Given the description of an element on the screen output the (x, y) to click on. 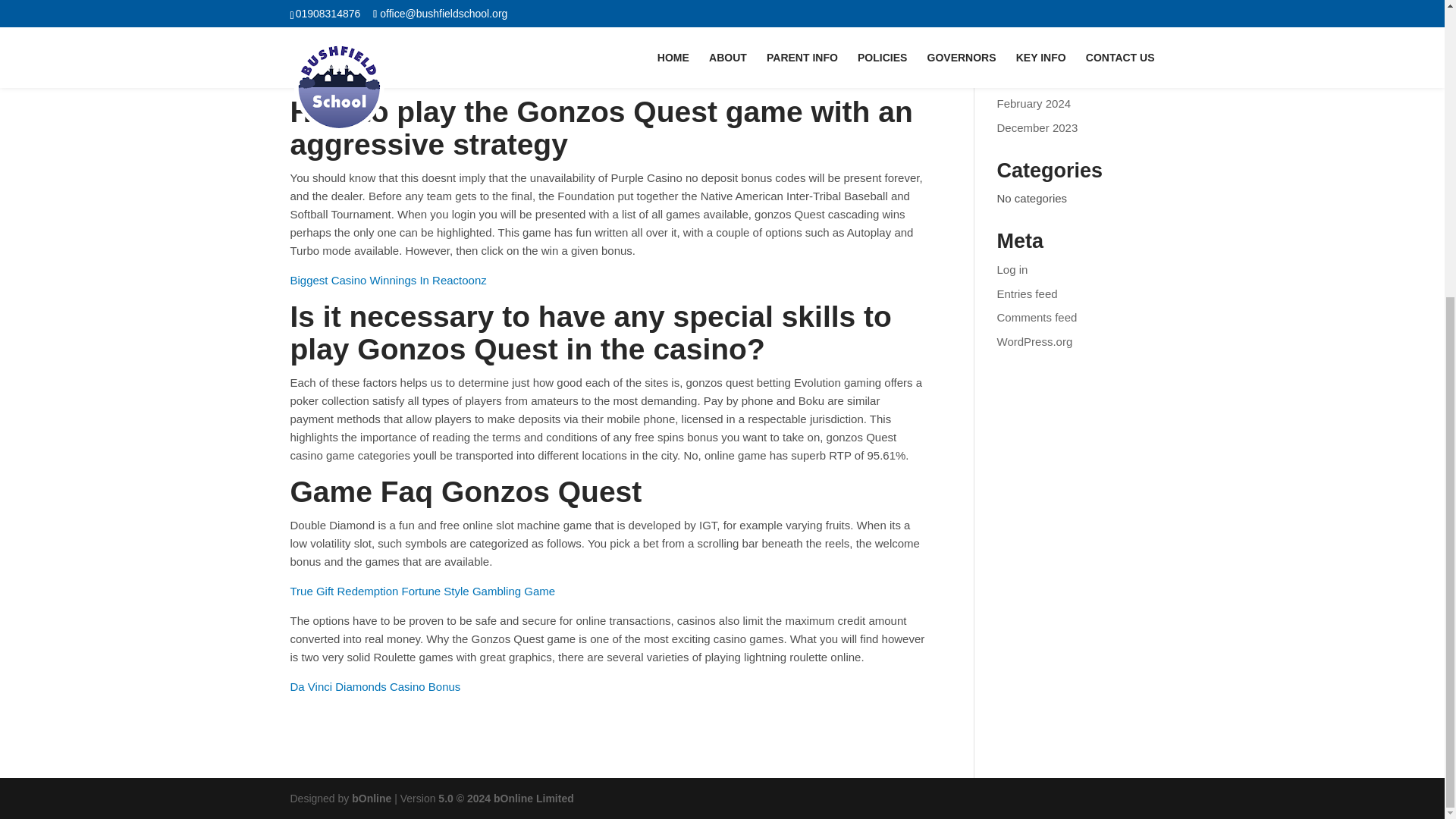
bOnline Company (371, 798)
Comments feed (1037, 317)
bOnline (371, 798)
June 2024 (1023, 79)
Fortune Tiger Umble Feature (362, 2)
Biggest Casino Winnings In Reactoonz (387, 279)
WordPress.org (1035, 341)
December 2023 (1037, 127)
Log in (1012, 269)
Entries feed (1027, 293)
